Given the description of an element on the screen output the (x, y) to click on. 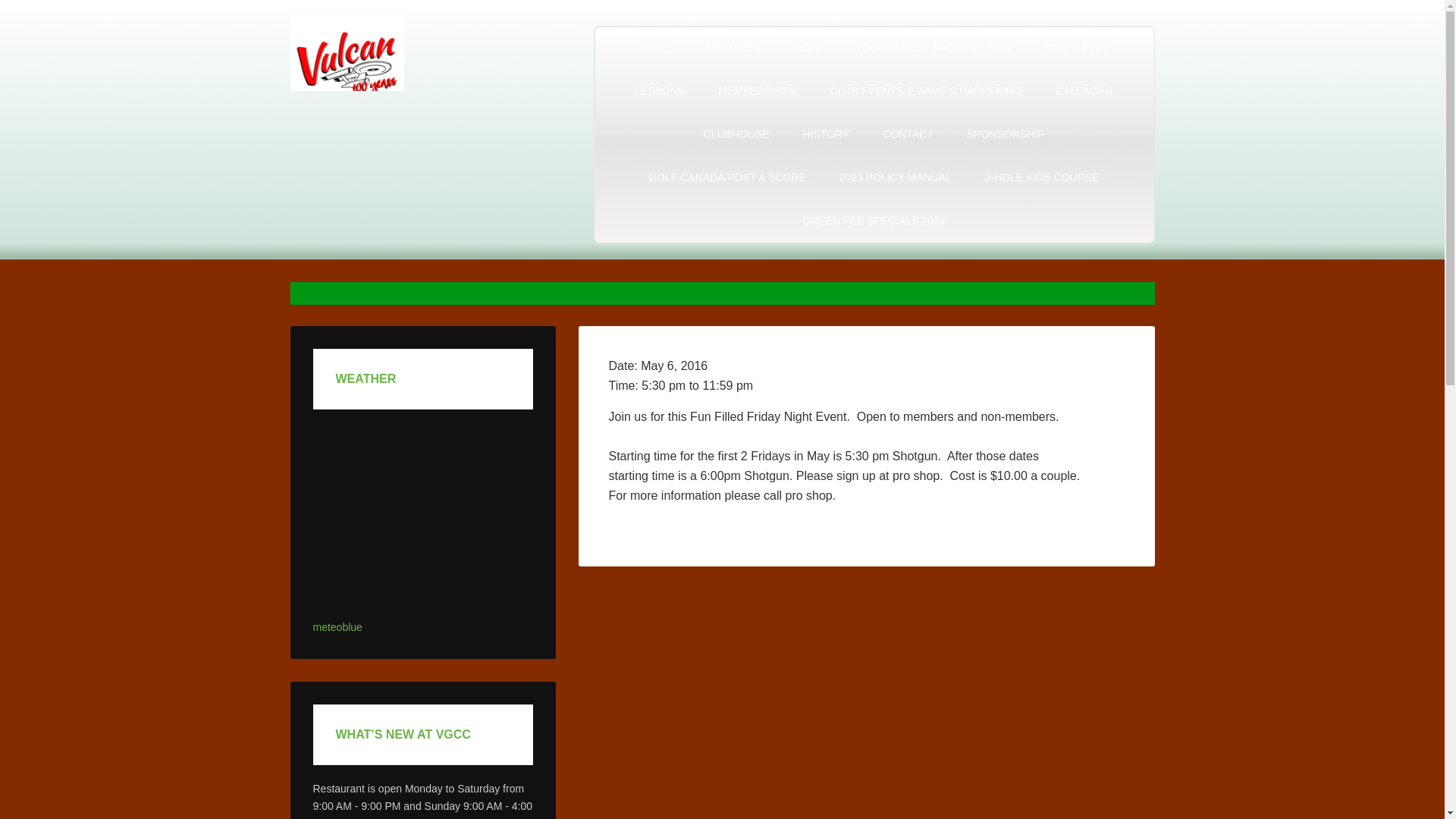
TEE TIMES (732, 47)
MEMBERSHIPS (756, 91)
HISTORY (825, 134)
CLUBHOUSE (736, 134)
GOLF (807, 47)
2016-05-06T23:59:00 (726, 385)
2016-05-06T17:30:00 (663, 385)
HOME (654, 47)
CALENDAR (1084, 91)
